Given the description of an element on the screen output the (x, y) to click on. 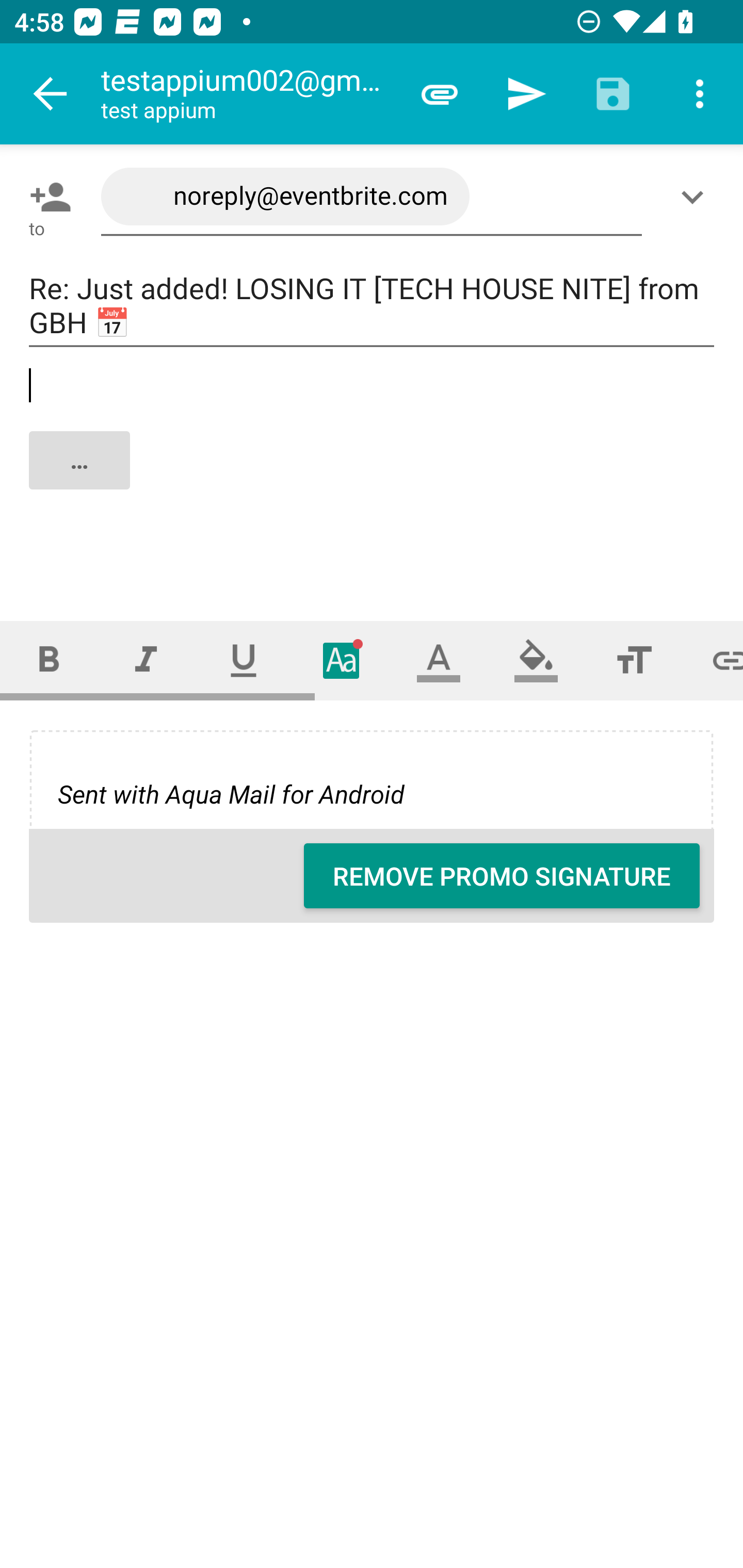
Navigate up (50, 93)
testappium002@gmail.com test appium (248, 93)
Attach (439, 93)
Send (525, 93)
Save (612, 93)
More options (699, 93)
noreply@eventbrite.com,  (371, 197)
Pick contact: To (46, 196)
Show/Add CC/BCC (696, 196)

…
 (372, 477)
Bold (48, 660)
Italic (145, 660)
Underline (243, 660)
Typeface (font) (341, 660)
Text color (438, 660)
Fill color (536, 660)
Font size (633, 660)
Set link (712, 660)
REMOVE PROMO SIGNATURE (501, 875)
